Given the description of an element on the screen output the (x, y) to click on. 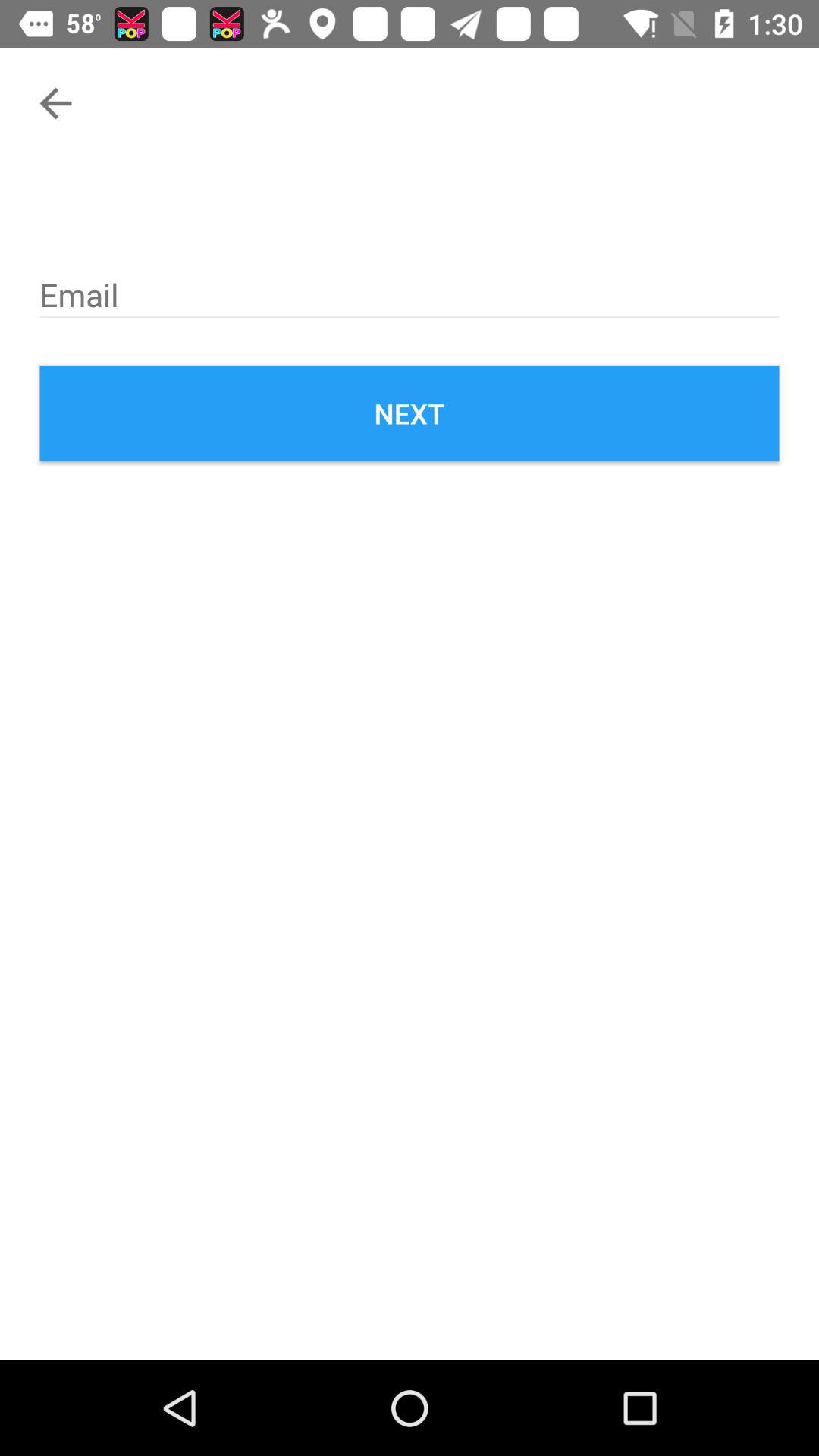
tap the next icon (409, 413)
